Given the description of an element on the screen output the (x, y) to click on. 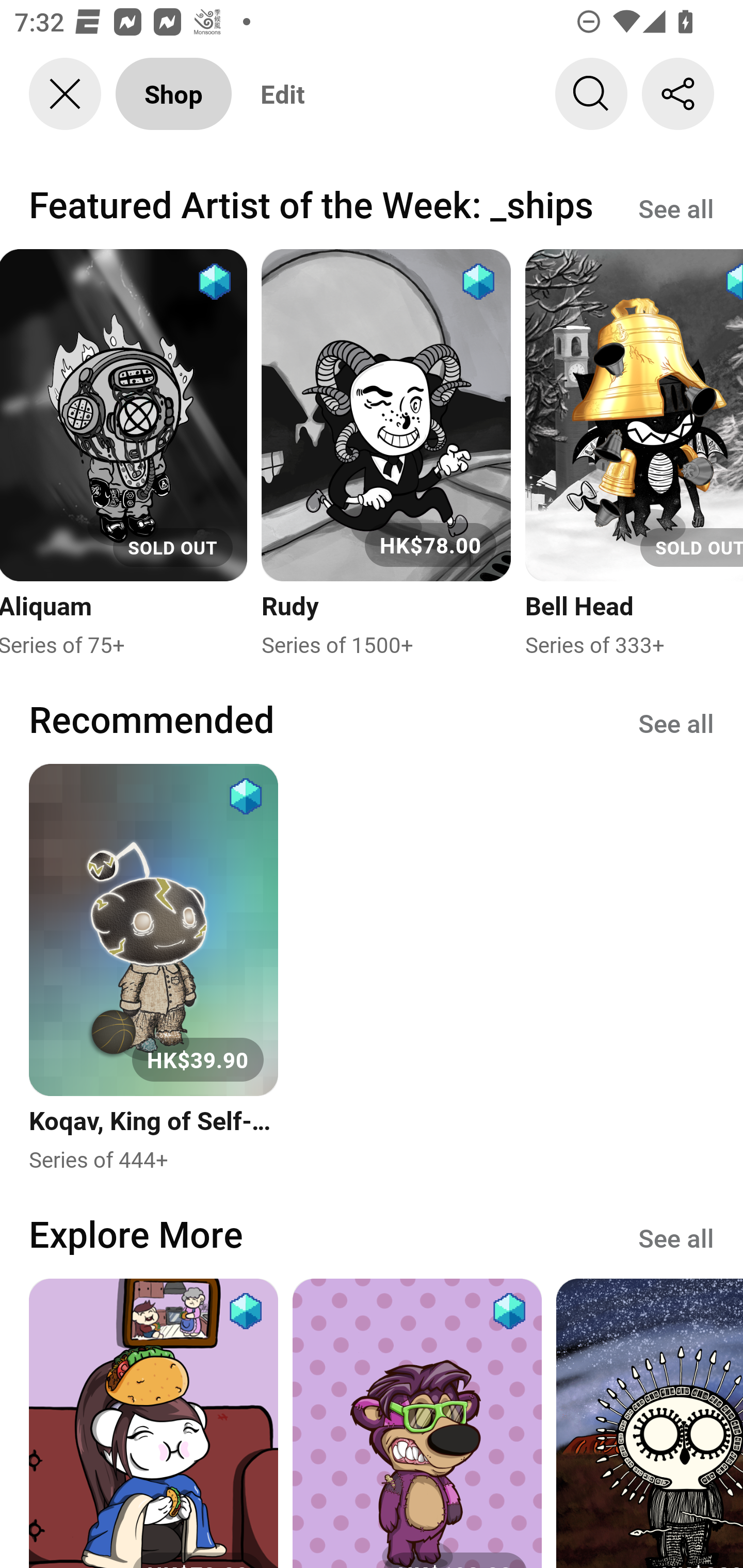
Close (64, 93)
Edit (282, 93)
Search (591, 93)
Share (677, 93)
Featured Artist of the Week: _ships (311, 203)
See all (676, 206)
Aliquam, Series of 75+, SOLD OUT (123, 453)
Rudy, Series of 1500+, HK$78.00 (386, 453)
Bell Head, Series of 333+, SOLD OUT (634, 453)
Recommended (151, 718)
See all (676, 723)
Koqav, King of Self-Care, Series of 444+, HK$39.90 (152, 968)
Explore More (135, 1233)
See all (676, 1235)
Happy Tacos, Series of 400+, HK$78.00 (152, 1422)
TONKO TEDDIES DOLL, Series of 500+, HK$198.00 (416, 1422)
Wandjina, Series of 500+, HK$389.00 (649, 1422)
